Given the description of an element on the screen output the (x, y) to click on. 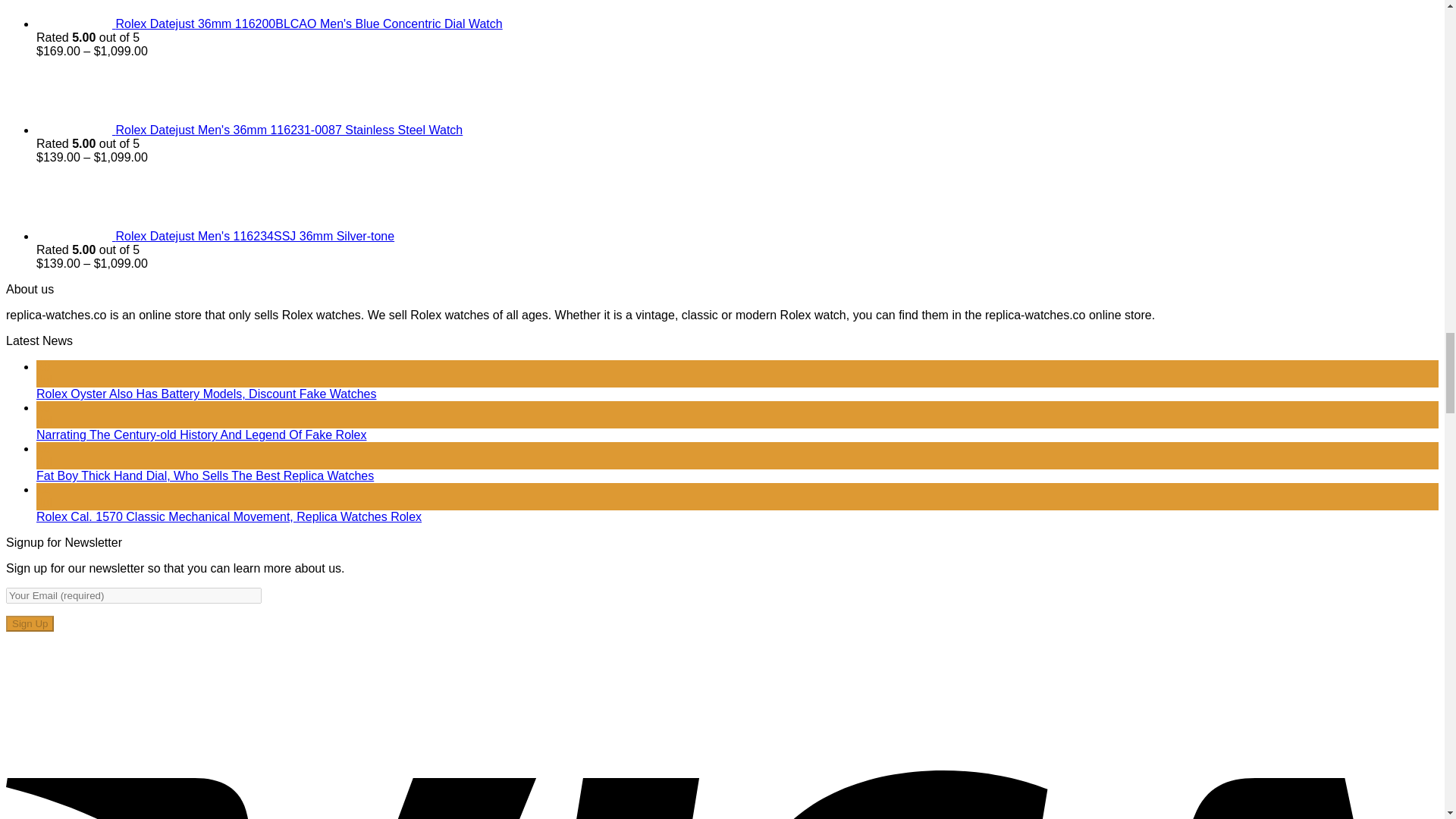
Sign Up (29, 623)
